Given the description of an element on the screen output the (x, y) to click on. 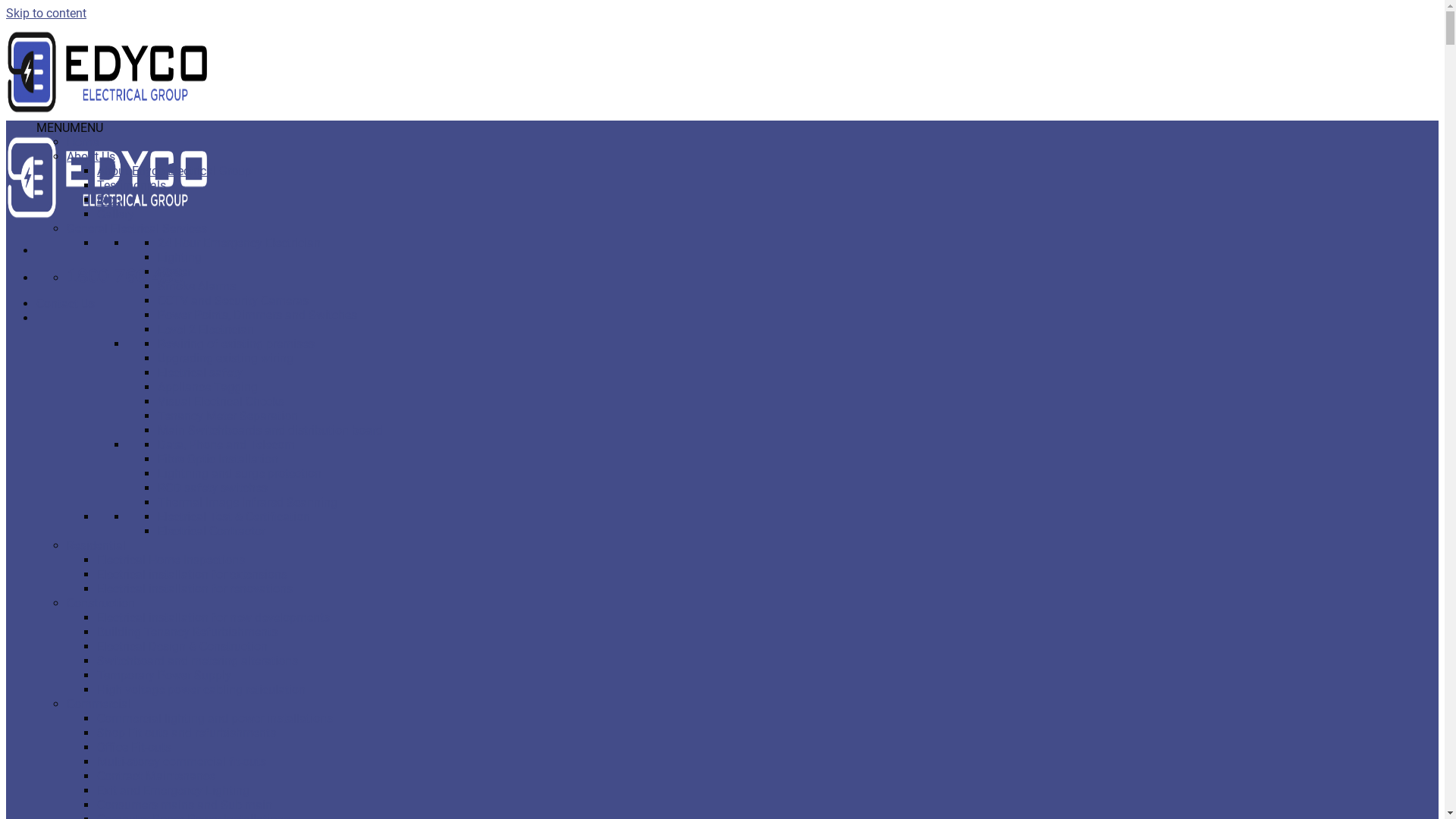
Electrical installation for renovations Element type: text (194, 588)
Building Tenancy Refurbishments Element type: text (187, 631)
Electrical installation for new developments Element type: text (213, 617)
Blog Element type: text (109, 199)
High voltage power cabling reticulation Element type: text (201, 689)
Appliance Tagging Element type: text (207, 386)
RCD safety switches Element type: text (212, 487)
Data, Phone and Telecom Element type: text (225, 444)
Electrical safety Element type: text (199, 372)
Temporary Power Supply Element type: text (164, 675)
Consumers mains and Sub main Element type: text (184, 804)
Visual Electrical Checks Element type: text (220, 401)
About Edyco Electrical Group Element type: text (174, 170)
Gallery Element type: text (115, 214)
Office Fit-outs Element type: text (134, 747)
Electrical Design & Construction Element type: text (182, 646)
Main Switchboards and distribution board Element type: text (269, 430)
Electrical installation for extensions Element type: text (192, 574)
Commercial Element type: text (98, 703)
Level 2 Electrician Element type: text (205, 329)
Fibre Optic Installation Element type: text (217, 458)
Electrical Home Inspections Element type: text (170, 559)
Home Element type: text (82, 141)
1800 766 483 Element type: text (124, 277)
Rewiring of existing premises Element type: text (235, 343)
24 Hour Emergency Electrician Element type: text (238, 242)
Thermal Image Infrared Scanning Element type: text (247, 502)
CCTV and Security Cameras Element type: text (232, 300)
Lightning and surge protection Element type: text (239, 473)
Testimonials Element type: text (131, 185)
Exit and Emergency Lighting Element type: text (173, 790)
Electrical Contractor Element type: text (211, 531)
Contract Maintenance Element type: text (156, 775)
Power Element type: text (174, 271)
Tenancy Meter Separation Element type: text (227, 415)
Skip to content Element type: text (46, 13)
Shop Fit outs and refurbishments Element type: text (186, 732)
Residential Element type: text (95, 545)
Switchboard and metering alterations Element type: text (197, 660)
Contact Us Element type: text (65, 303)
Commercial lighting and power installations Element type: text (214, 718)
Smoke Alarms Element type: text (196, 286)
About Us Element type: text (90, 156)
Electrical Test & Certification Element type: text (233, 516)
Upgrading existing wiring Element type: text (225, 358)
Lighting Element type: text (179, 257)
Multi-storey commercial fit-outs Element type: text (181, 761)
Power Points, Dimmers and Switches Element type: text (257, 314)
Construction Element type: text (100, 603)
General Electrical Services Element type: text (136, 228)
